Given the description of an element on the screen output the (x, y) to click on. 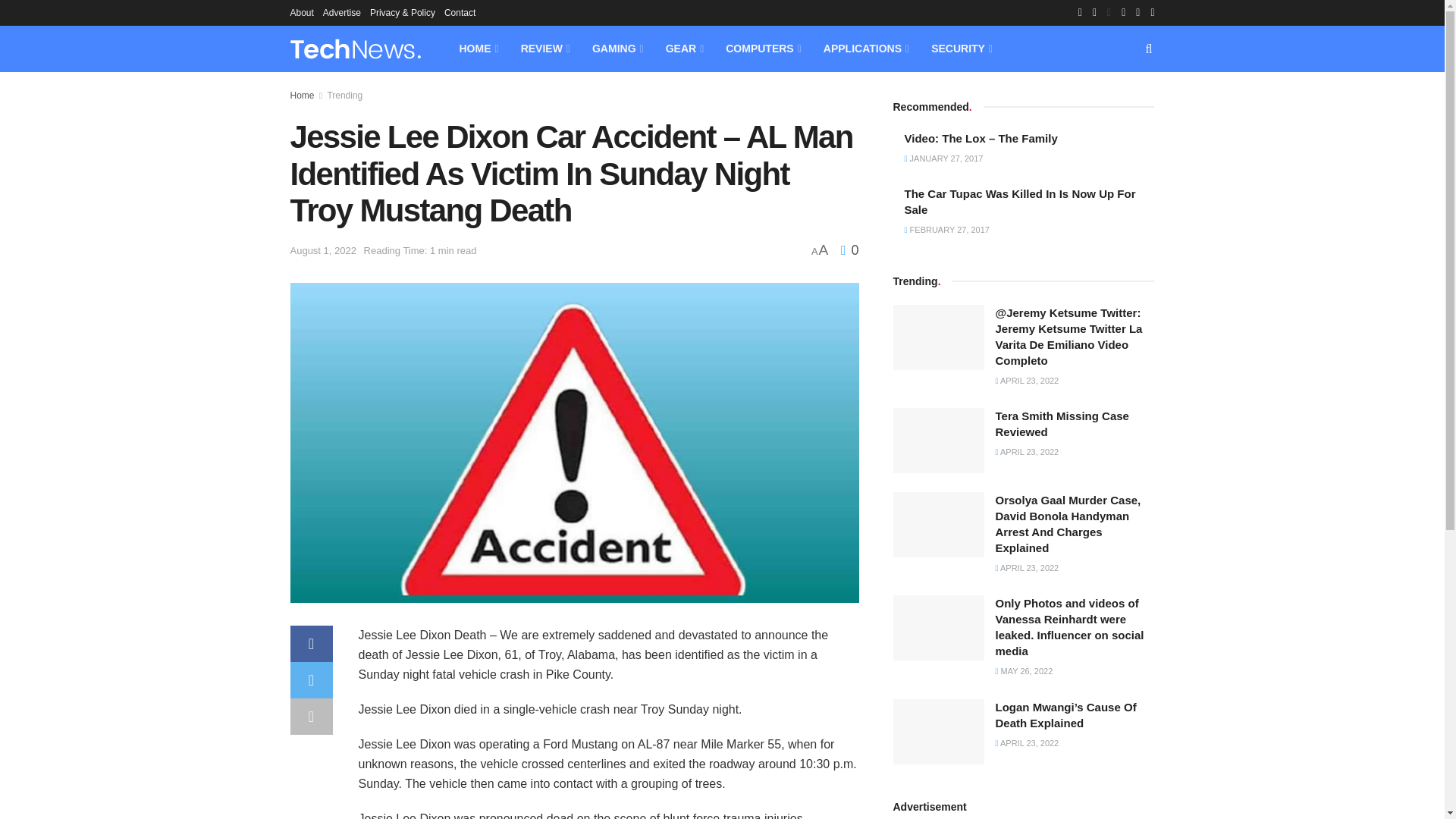
About (301, 12)
REVIEW (543, 48)
HOME (477, 48)
GAMING (616, 48)
Advertise (342, 12)
Contact (460, 12)
GEAR (683, 48)
